Given the description of an element on the screen output the (x, y) to click on. 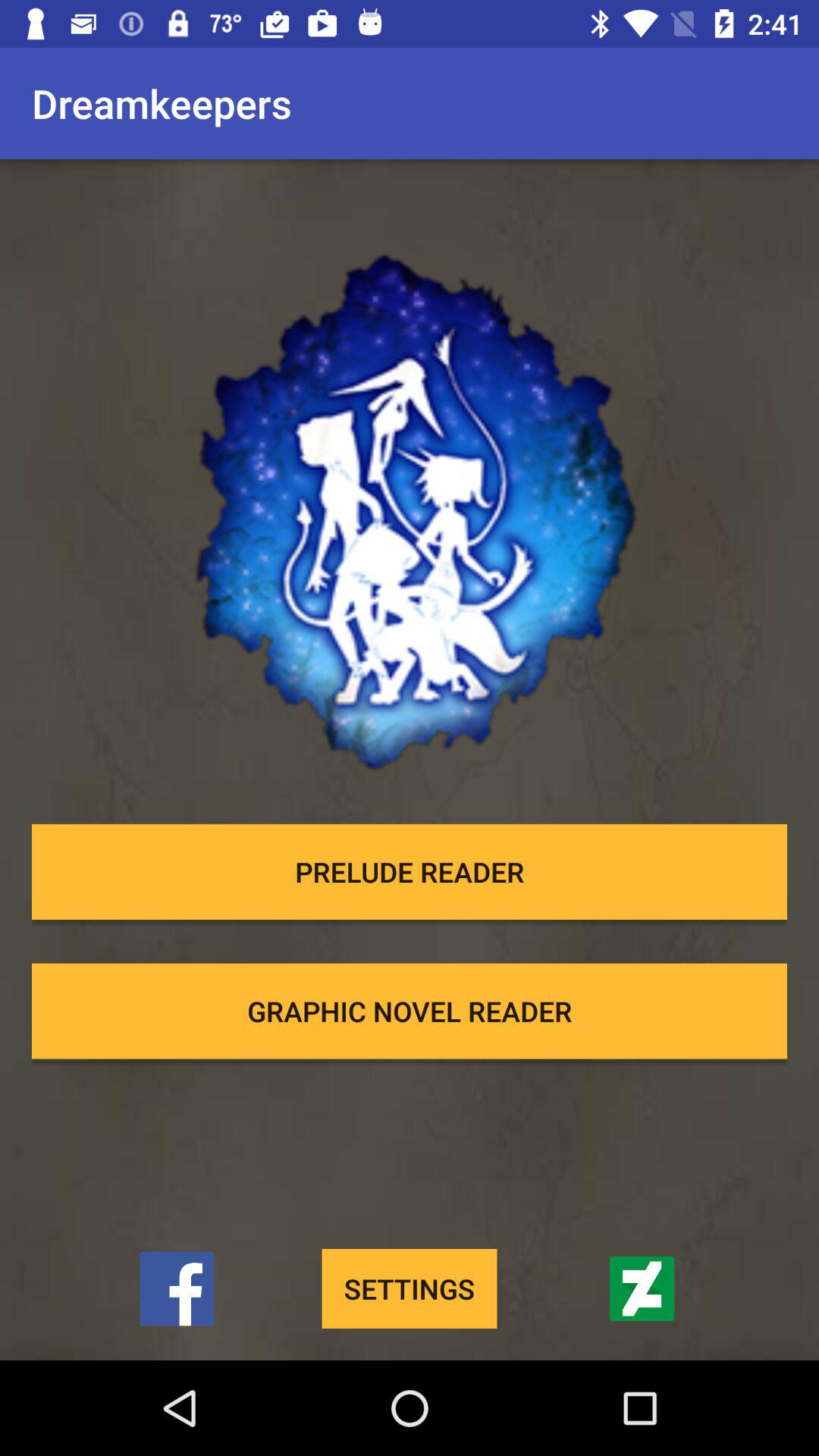
tap the icon above graphic novel reader icon (409, 871)
